Given the description of an element on the screen output the (x, y) to click on. 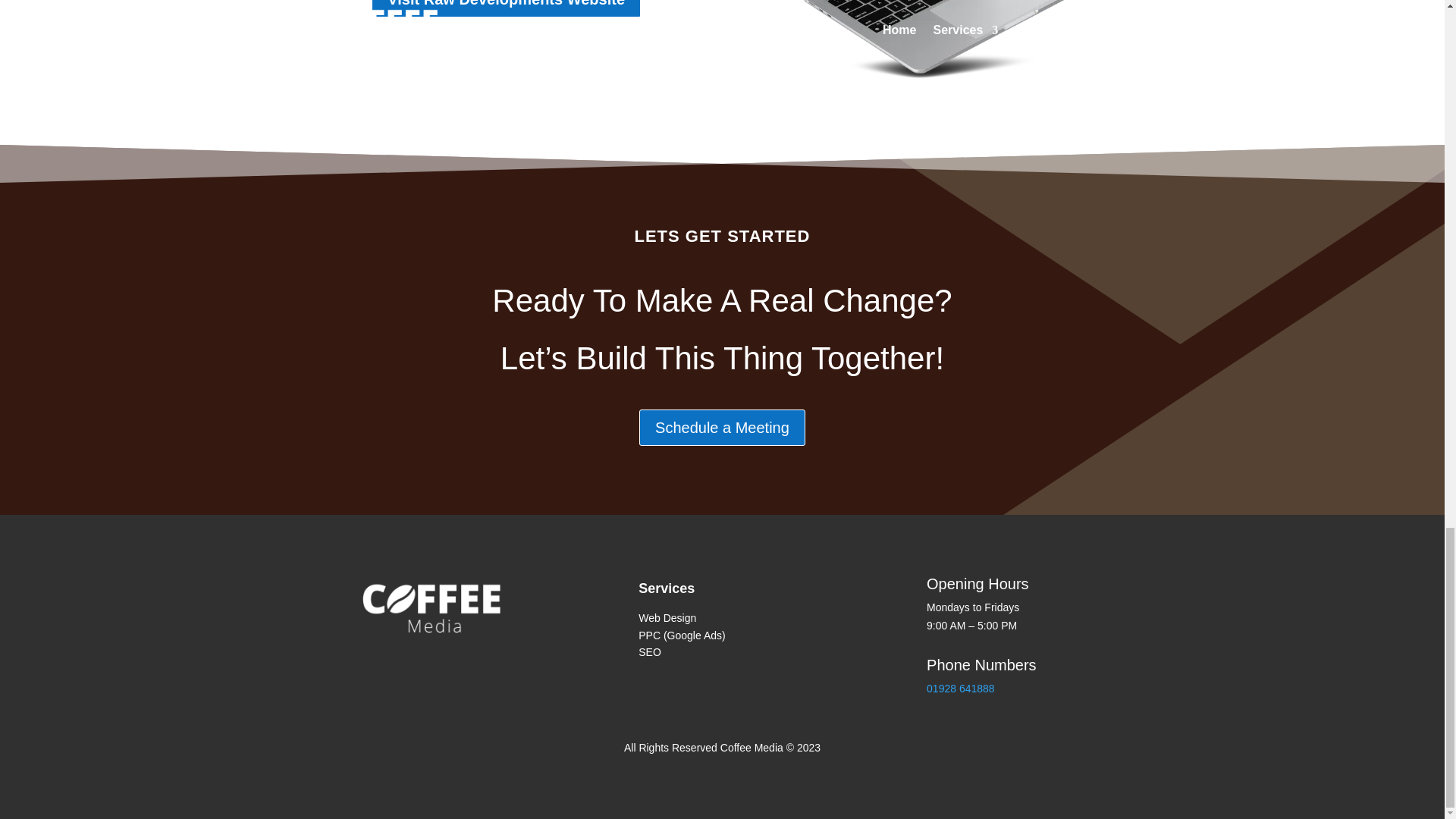
Schedule a Meeting (722, 427)
Visit Raw Developments Website (506, 9)
Coffee Media Logo (433, 609)
01928 641888 (960, 688)
Raw Developments (934, 48)
